Given the description of an element on the screen output the (x, y) to click on. 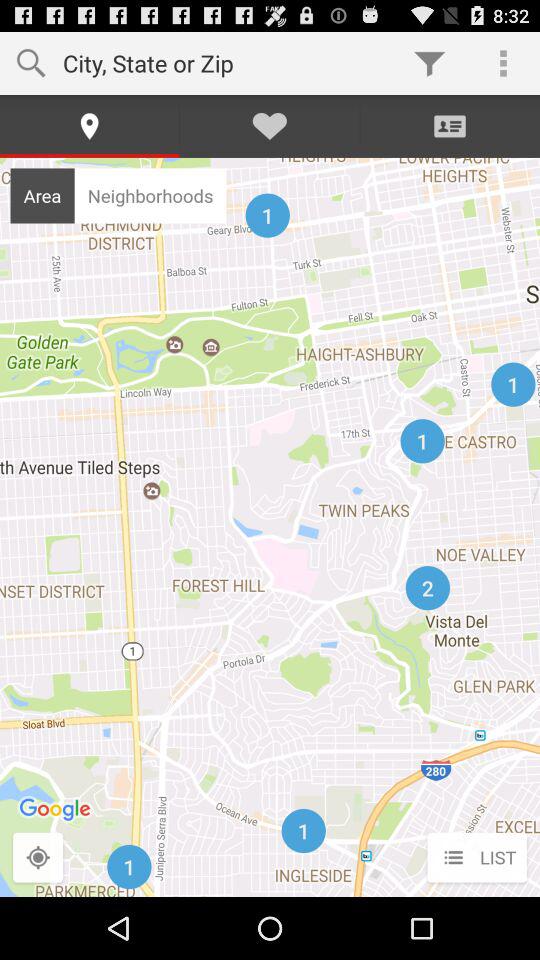
turn on icon next to area item (150, 195)
